Given the description of an element on the screen output the (x, y) to click on. 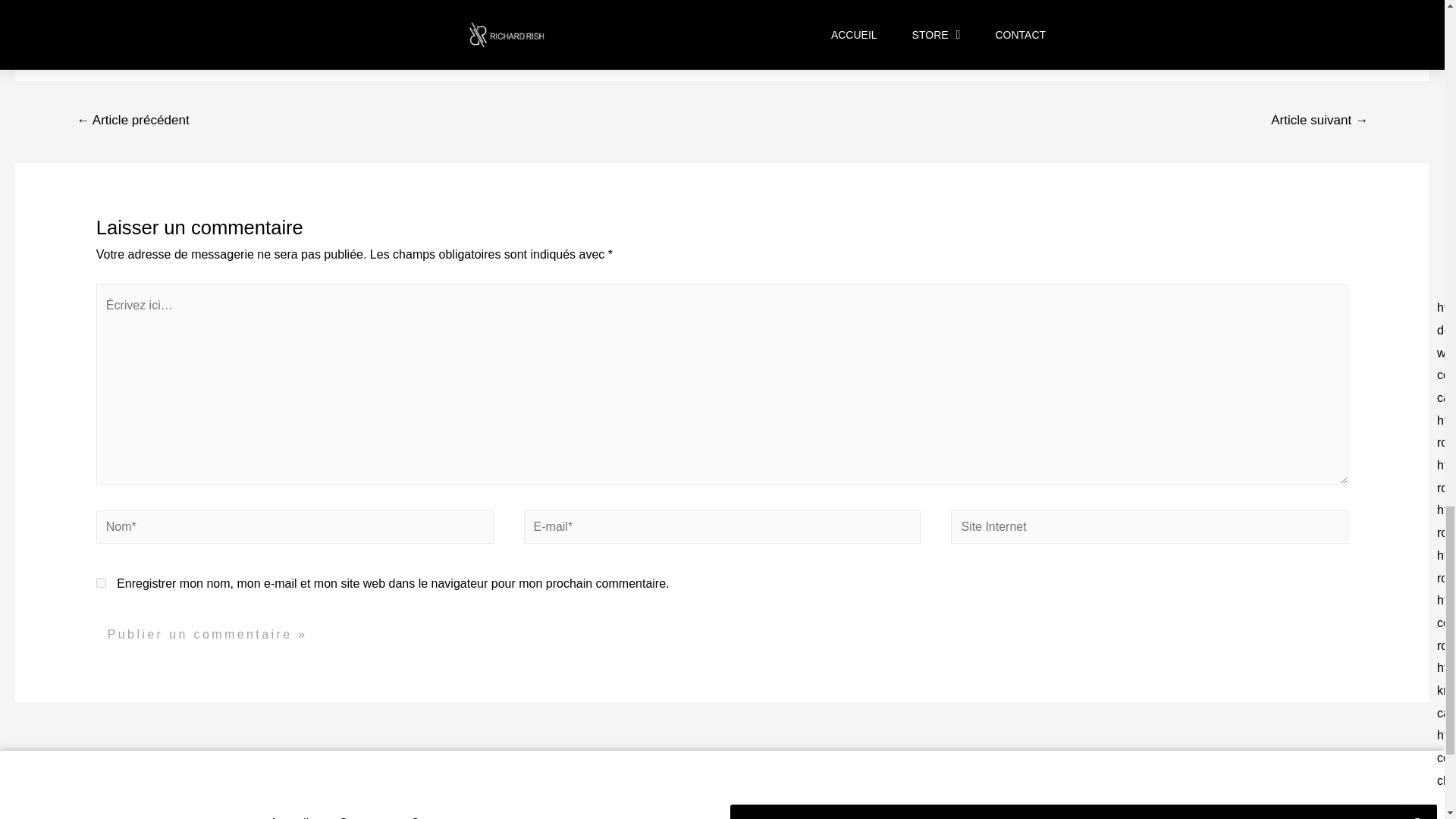
Rechercher  (1064, 811)
yes (101, 583)
Rechercher  (1418, 811)
